Given the description of an element on the screen output the (x, y) to click on. 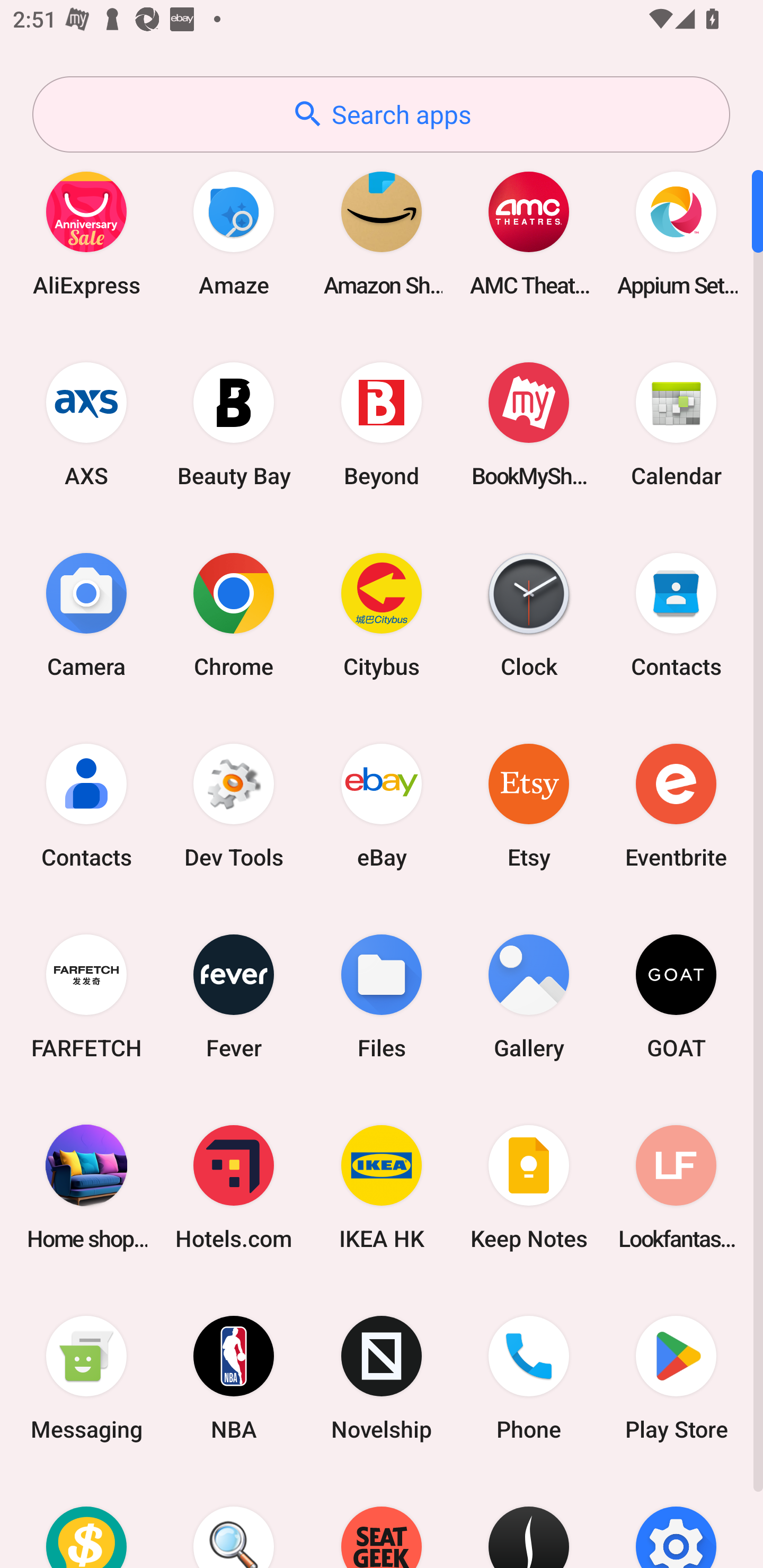
  Search apps (381, 114)
AliExpress (86, 233)
Amaze (233, 233)
Amazon Shopping (381, 233)
AMC Theatres (528, 233)
Appium Settings (676, 233)
AXS (86, 424)
Beauty Bay (233, 424)
Beyond (381, 424)
BookMyShow (528, 424)
Calendar (676, 424)
Camera (86, 614)
Chrome (233, 614)
Citybus (381, 614)
Clock (528, 614)
Contacts (676, 614)
Contacts (86, 805)
Dev Tools (233, 805)
eBay (381, 805)
Etsy (528, 805)
Eventbrite (676, 805)
FARFETCH (86, 996)
Fever (233, 996)
Files (381, 996)
Gallery (528, 996)
GOAT (676, 996)
Home shopping (86, 1186)
Hotels.com (233, 1186)
IKEA HK (381, 1186)
Keep Notes (528, 1186)
Lookfantastic (676, 1186)
Messaging (86, 1377)
NBA (233, 1377)
Novelship (381, 1377)
Phone (528, 1377)
Play Store (676, 1377)
